Given the description of an element on the screen output the (x, y) to click on. 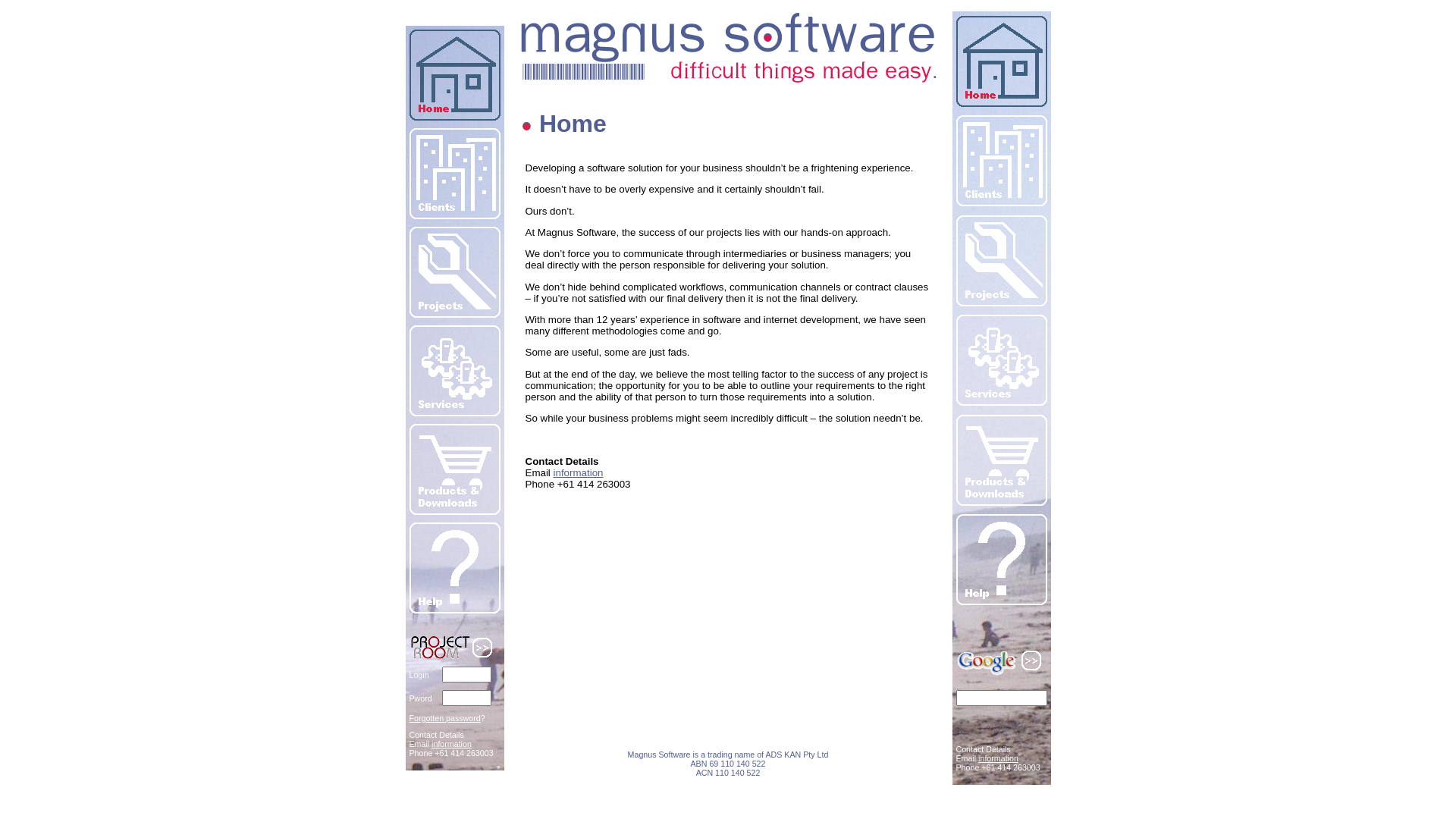
information Element type: text (998, 757)
information Element type: text (451, 743)
Forgotten password Element type: text (444, 717)
information Element type: text (578, 472)
